Given the description of an element on the screen output the (x, y) to click on. 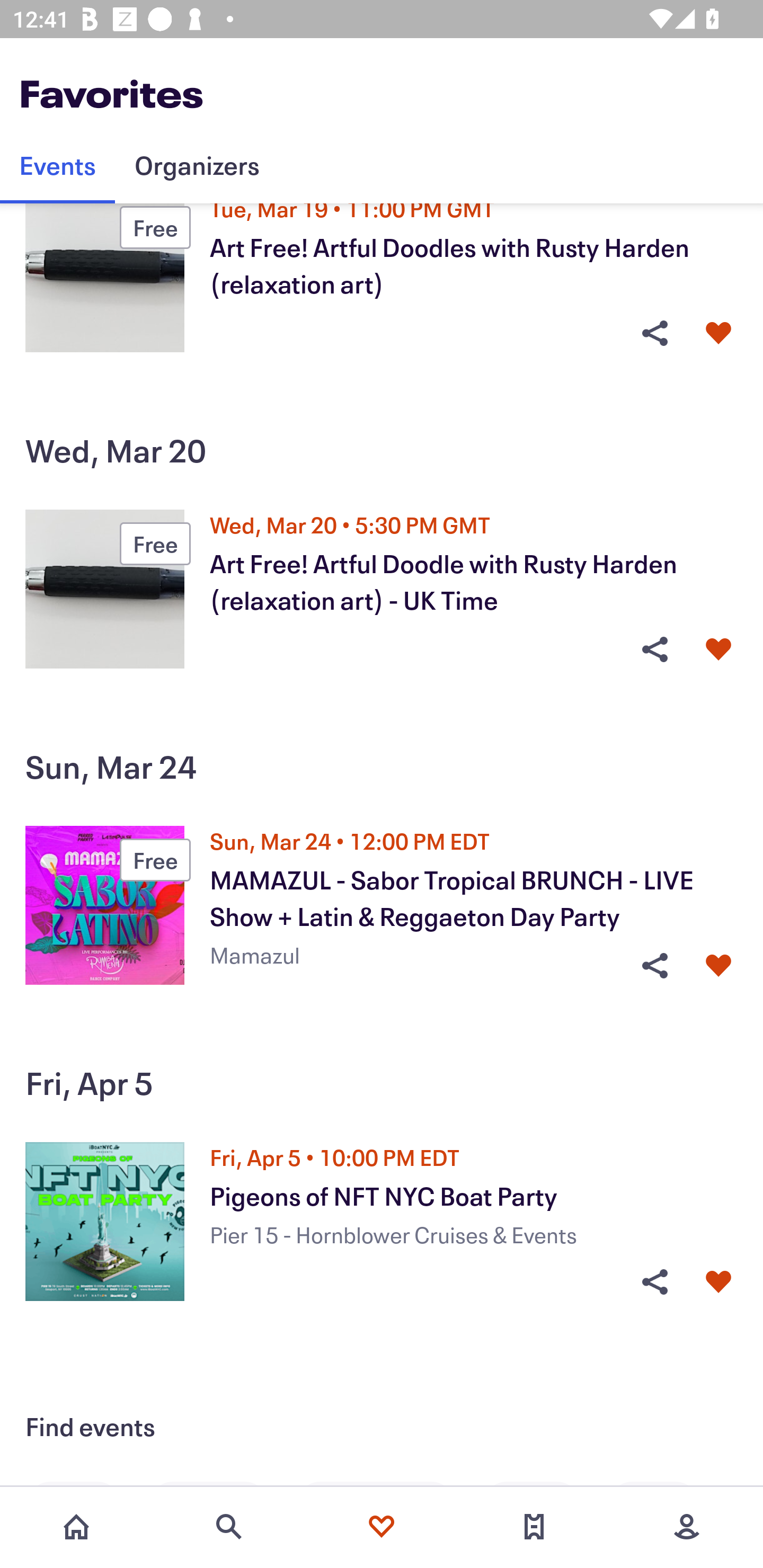
Organizers (196, 165)
Share Event (654, 332)
Unlike event (718, 332)
Share Event (654, 648)
Unlike event (718, 648)
Share Event (654, 965)
Unlike event (718, 965)
Share Event (654, 1281)
Unlike event (718, 1281)
Home (76, 1526)
Search events (228, 1526)
Favorites (381, 1526)
Tickets (533, 1526)
More (686, 1526)
